Given the description of an element on the screen output the (x, y) to click on. 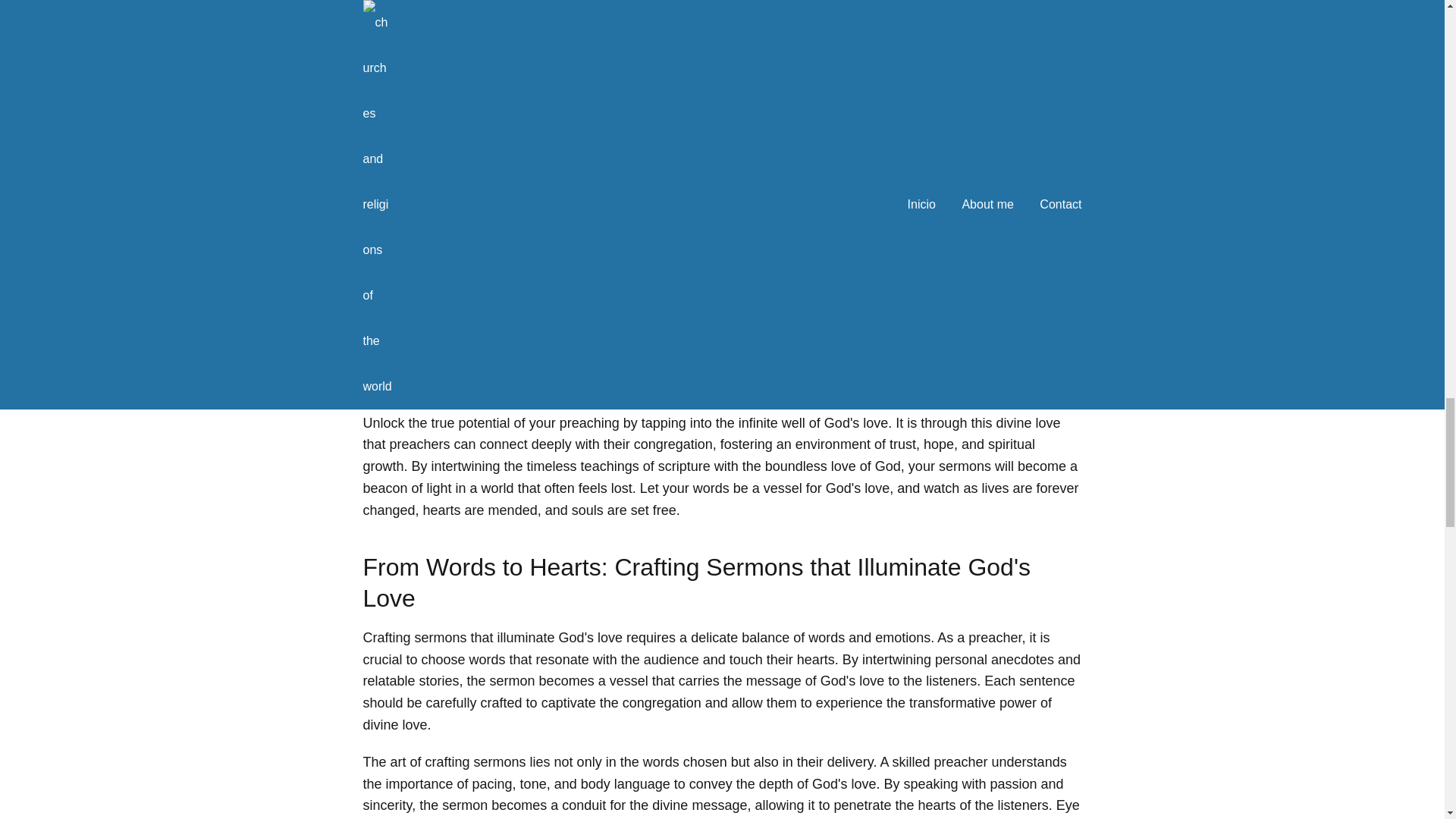
  The Significance of Turks Carrying a Rosary in Hand (721, 182)
